Given the description of an element on the screen output the (x, y) to click on. 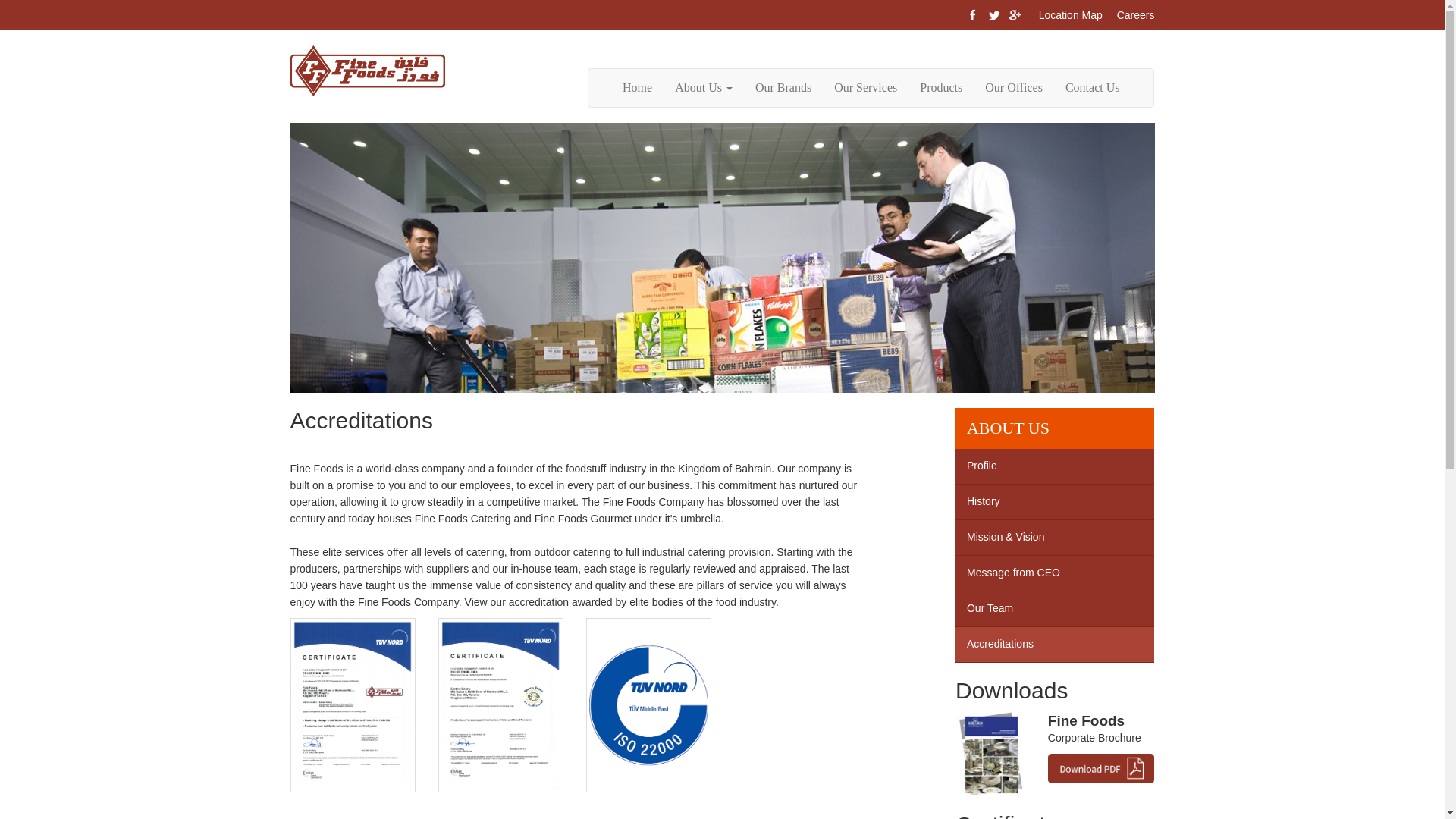
Facebook (972, 14)
Twitter (994, 14)
Message from CEO (1054, 573)
Google Plus (1015, 14)
Location Map (1070, 15)
Profile (1054, 466)
History (1054, 502)
Our Team (1054, 609)
Careers (1135, 15)
Our Services (865, 87)
Products (941, 87)
Home (637, 87)
Contact Us (1092, 87)
Accreditations (1054, 644)
Our Brands (783, 87)
